Given the description of an element on the screen output the (x, y) to click on. 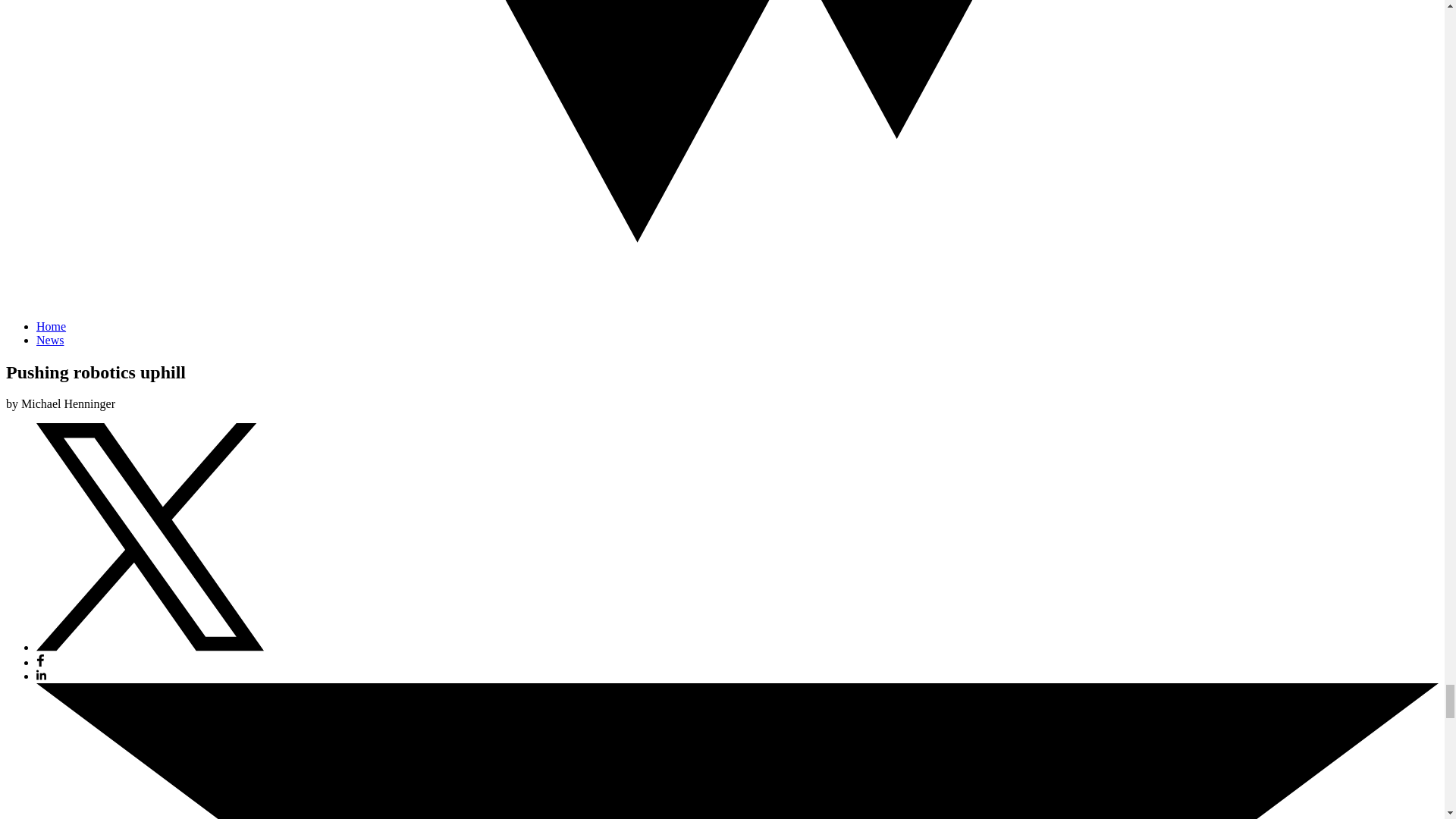
News (50, 339)
Home (50, 326)
